Given the description of an element on the screen output the (x, y) to click on. 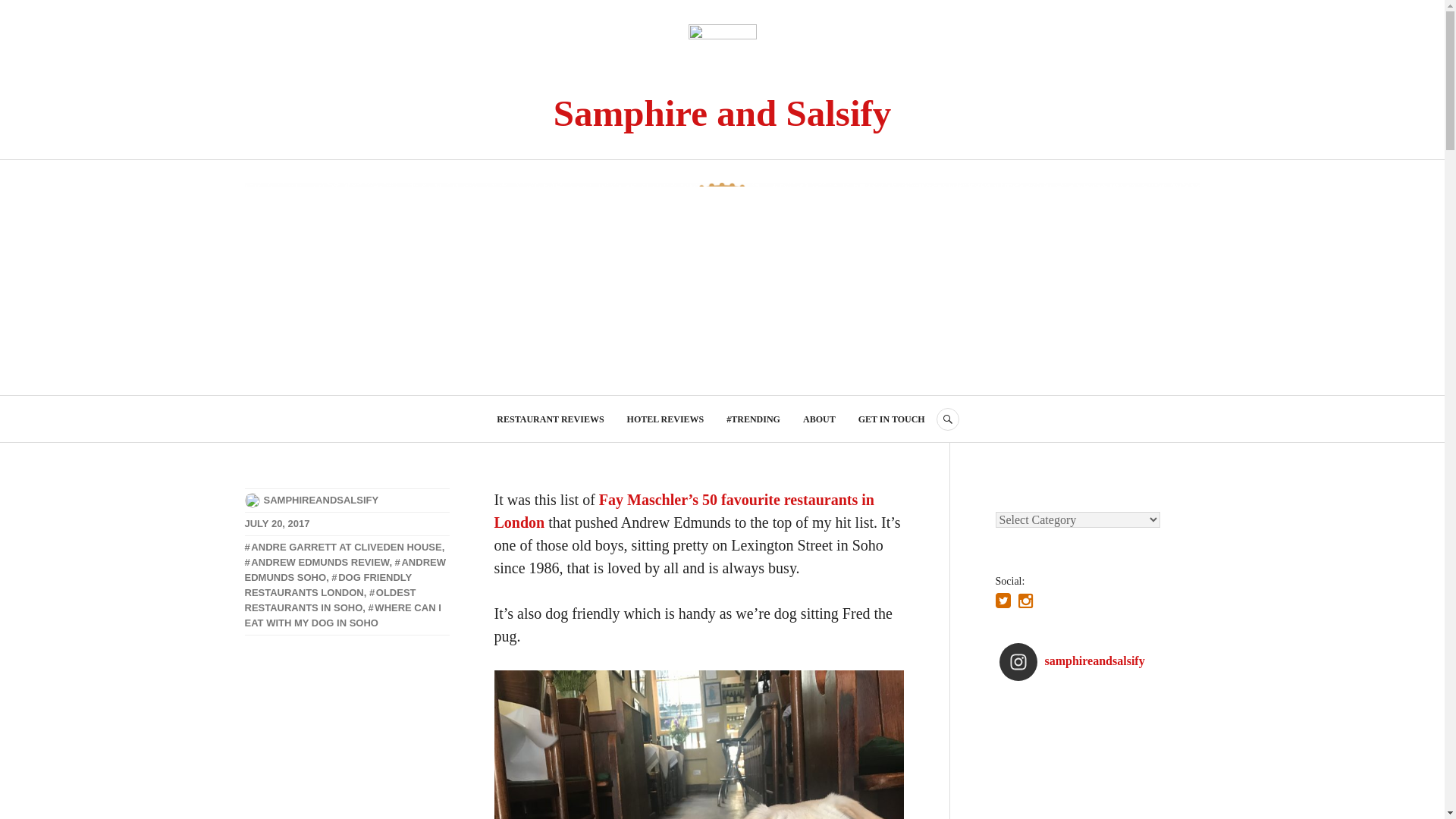
ANDREW EDMUNDS SOHO (344, 569)
ANDRE GARRETT AT CLIVEDEN HOUSE (342, 546)
samphireandsalsify (1090, 661)
GET IN TOUCH (891, 419)
WHERE CAN I EAT WITH MY DOG IN SOHO (342, 614)
OLDEST RESTAURANTS IN SOHO (329, 600)
RESTAURANT REVIEWS (550, 419)
JULY 20, 2017 (276, 523)
DOG FRIENDLY RESTAURANTS LONDON (328, 584)
Samphire and Salsify (722, 113)
